Given the description of an element on the screen output the (x, y) to click on. 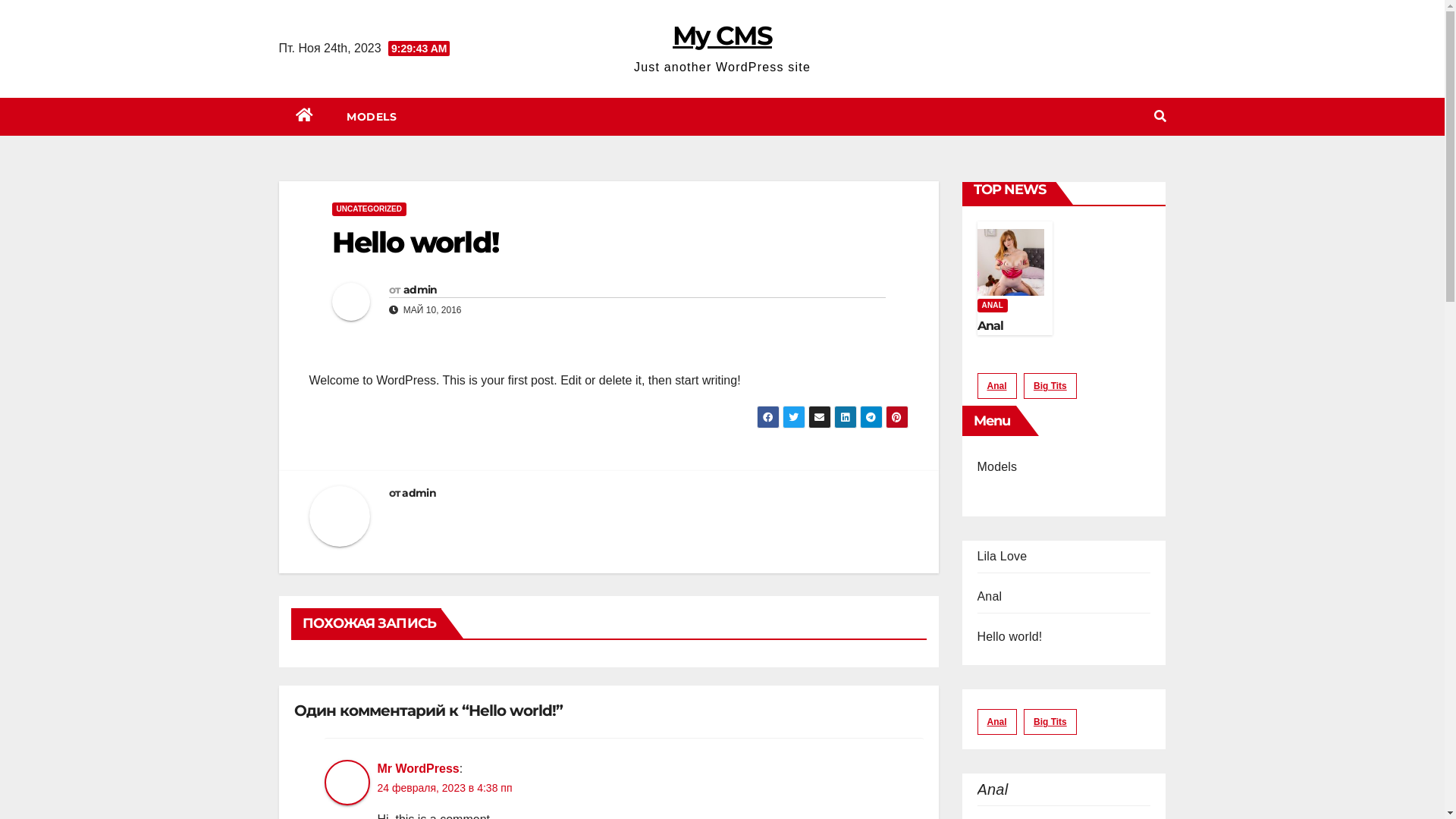
admin Element type: text (420, 289)
UNCATEGORIZED Element type: text (369, 209)
Anal Element type: text (989, 325)
Hello world! Element type: text (415, 242)
Big Tits Element type: text (1049, 385)
admin Element type: text (418, 492)
Big Tits Element type: text (1049, 721)
Anal Element type: text (988, 595)
Hello world! Element type: text (1008, 636)
My CMS Element type: text (721, 35)
ANAL Element type: text (991, 305)
MODELS Element type: text (371, 116)
Anal Element type: text (996, 385)
Anal Element type: text (991, 789)
Lila Love Element type: text (1001, 555)
Mr WordPress Element type: text (418, 768)
Models Element type: text (996, 466)
Anal Element type: text (996, 721)
